Given the description of an element on the screen output the (x, y) to click on. 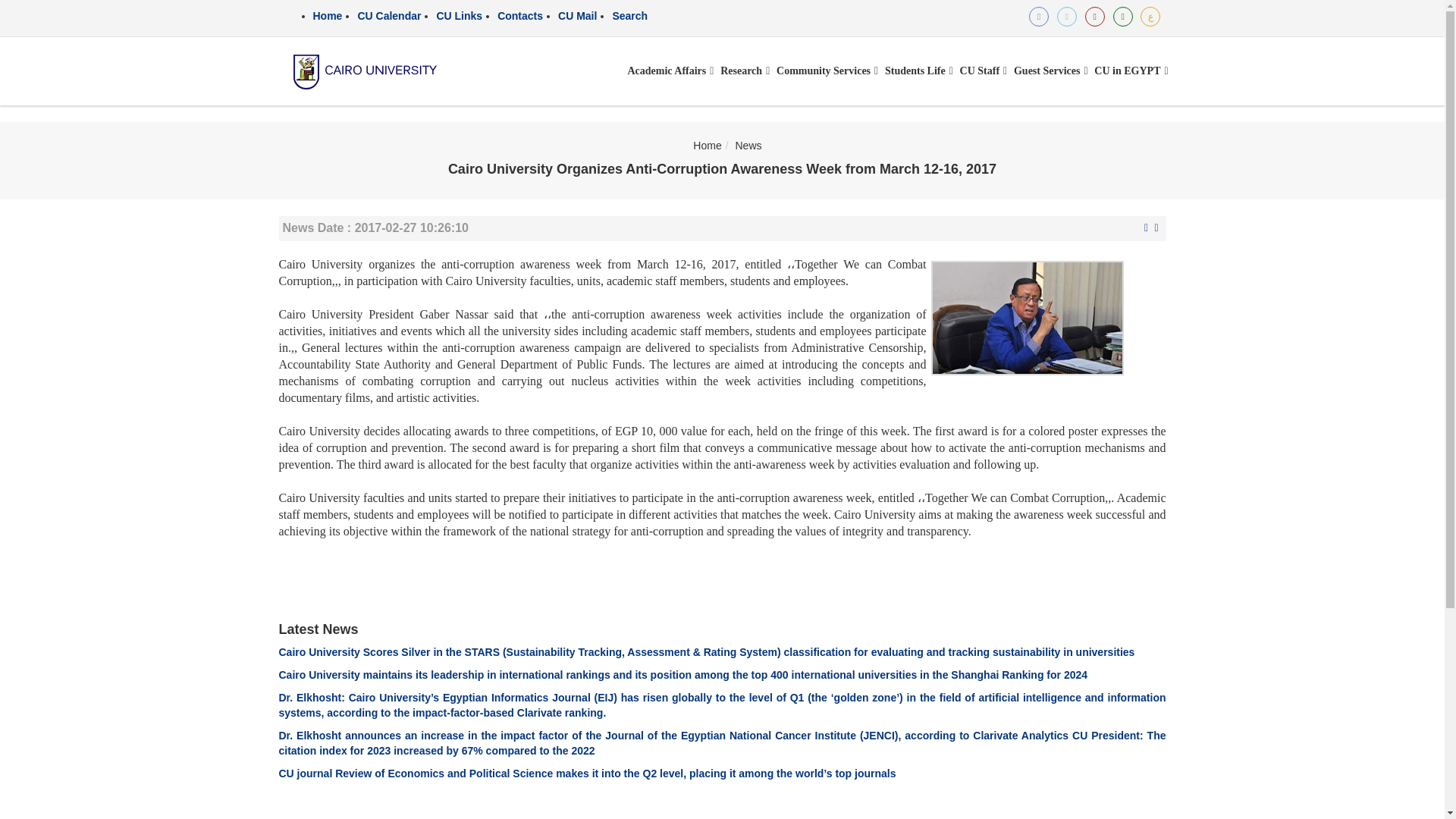
CU Links (458, 15)
Search (629, 15)
Contacts (520, 15)
Rss of Cairo University (1122, 16)
Home (327, 15)
CU Calendar (388, 15)
Home (327, 15)
CU Links (458, 15)
Official Youtube Channel of Cairo University (1094, 16)
CU Calendar (388, 15)
